Given the description of an element on the screen output the (x, y) to click on. 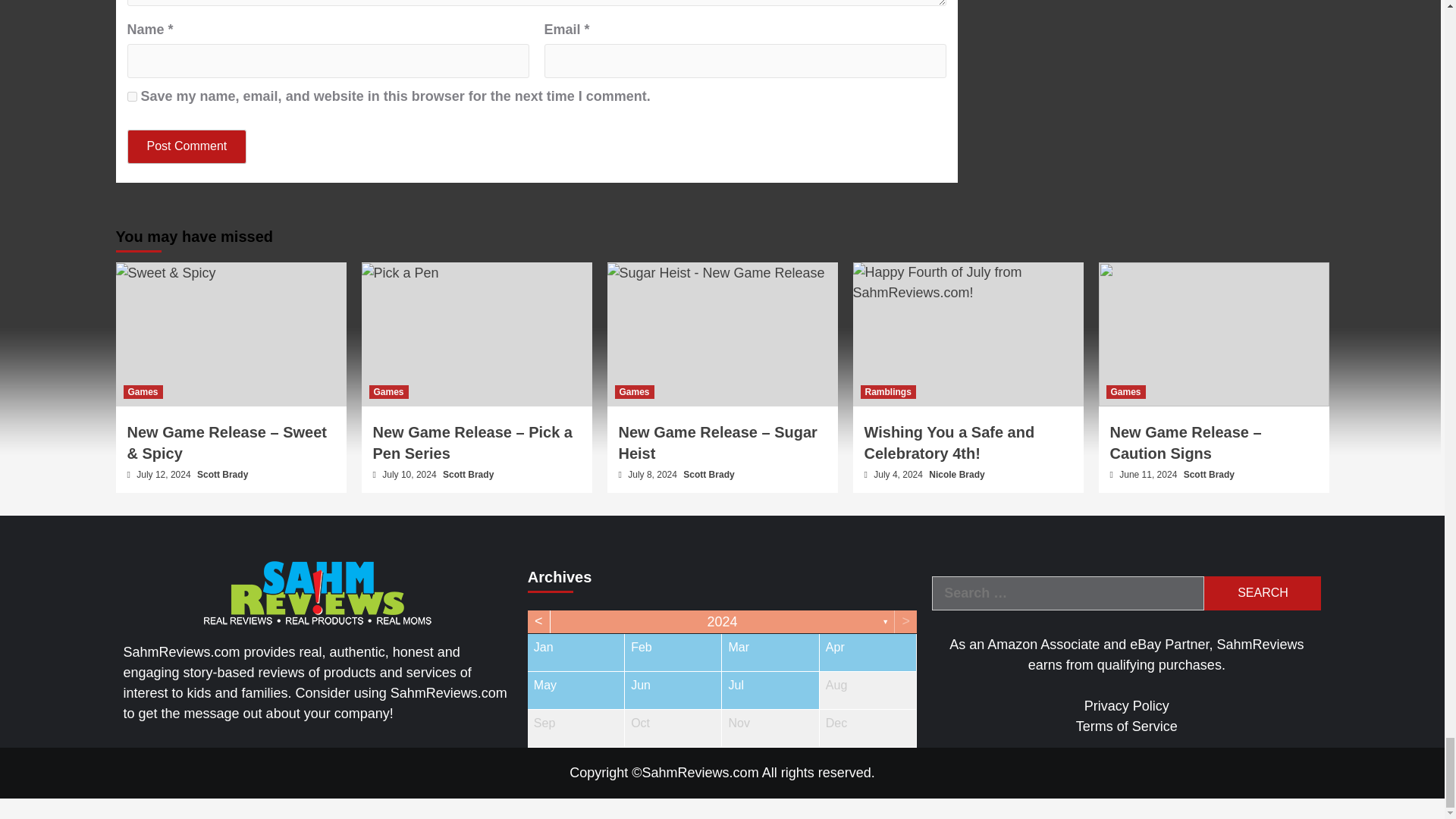
February, 2024 (672, 651)
January, 2024 (575, 651)
June, 2024 (672, 690)
March, 2024 (770, 651)
yes (132, 96)
Search (1262, 593)
Search (1262, 593)
May, 2024 (575, 690)
Post Comment (187, 146)
April, 2024 (867, 651)
